Given the description of an element on the screen output the (x, y) to click on. 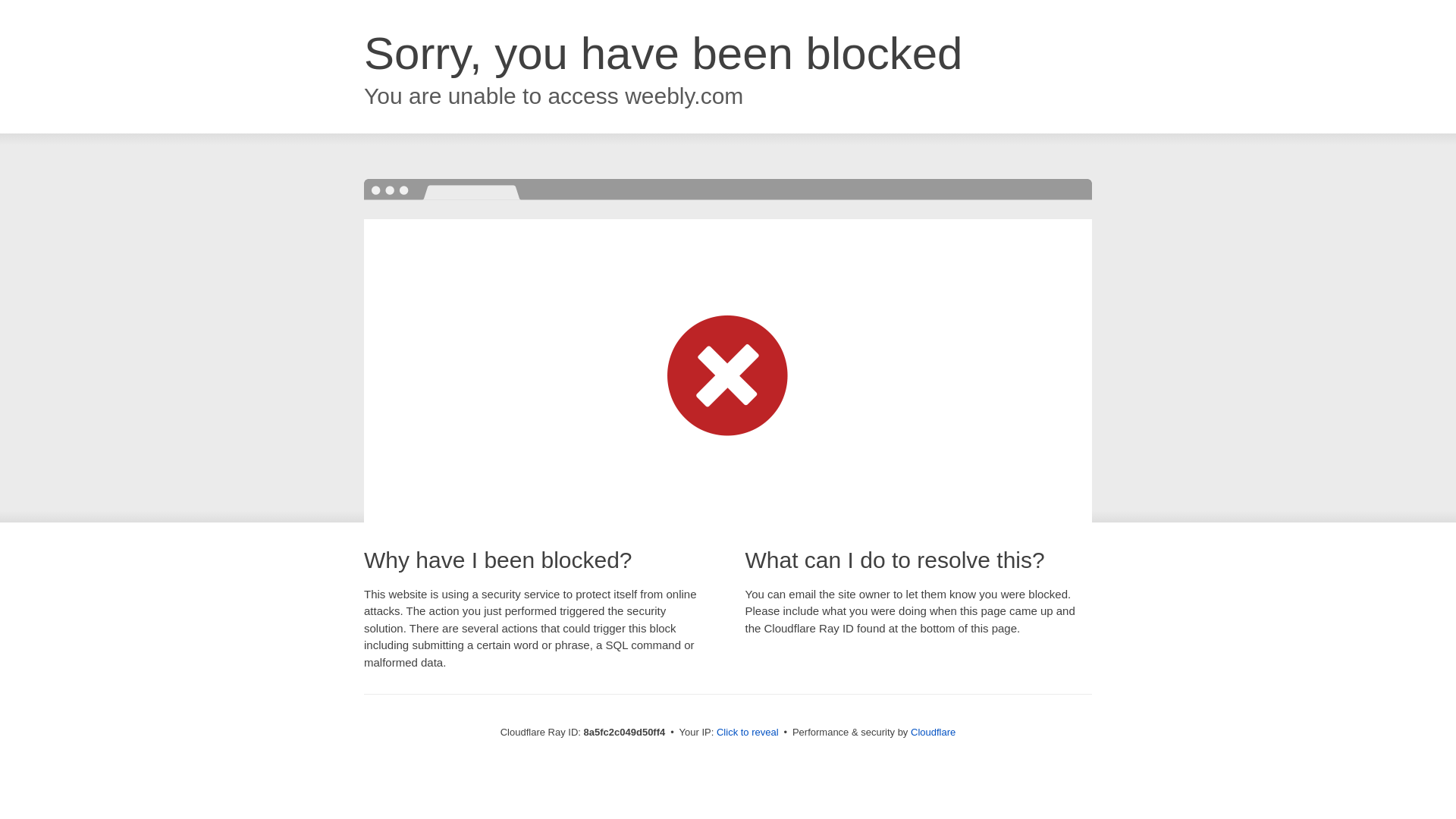
Click to reveal (747, 732)
Cloudflare (933, 731)
